Given the description of an element on the screen output the (x, y) to click on. 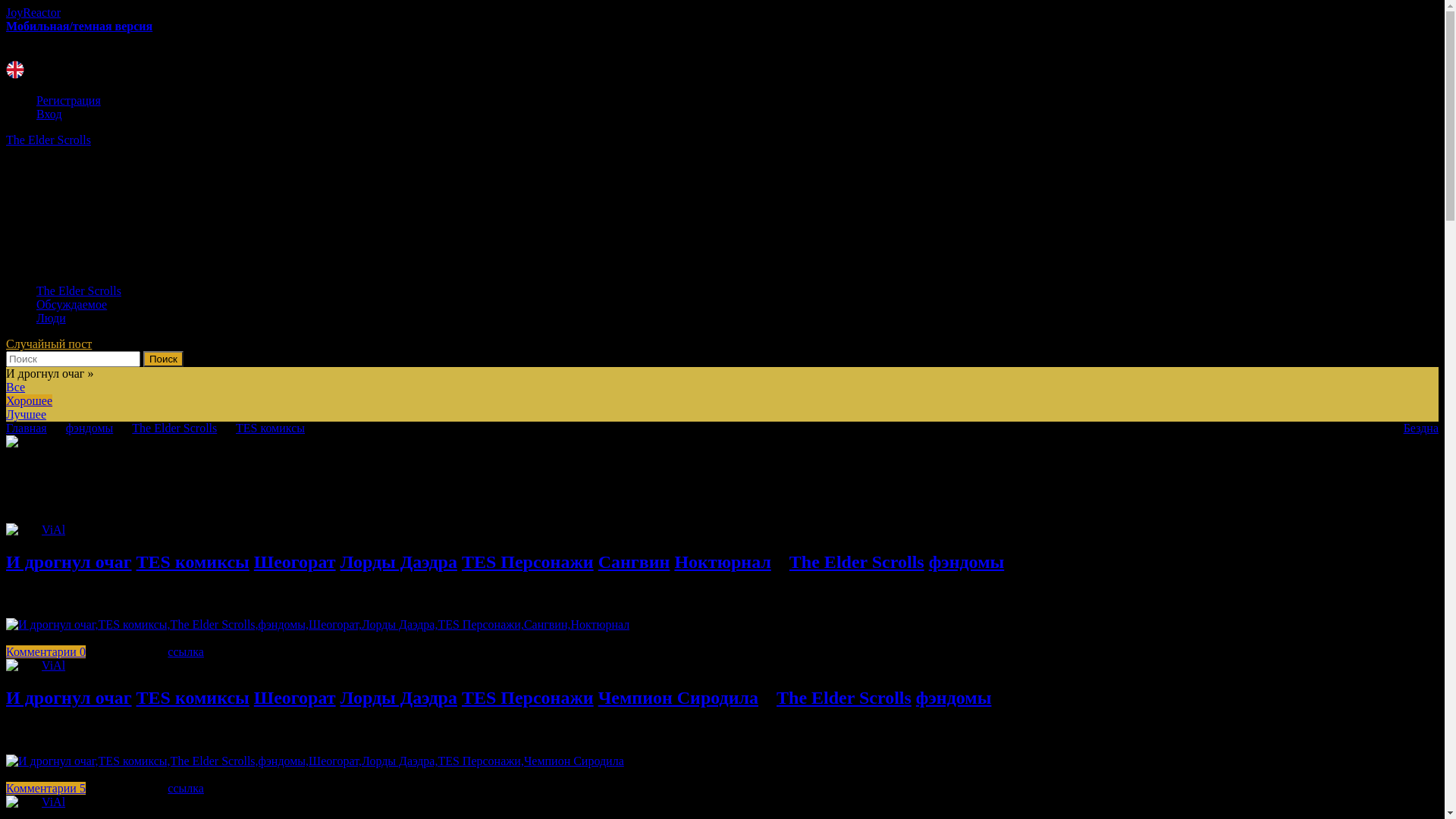
The Elder Scrolls Element type: text (856, 561)
ViAl Element type: text (53, 664)
The Elder Scrolls Element type: text (173, 427)
ViAl Element type: text (53, 801)
The Elder Scrolls Element type: text (78, 290)
The Elder Scrolls Element type: text (843, 697)
ViAl Element type: text (53, 529)
JoyReactor Element type: text (33, 12)
English version Element type: hover (15, 69)
The Elder Scrolls Element type: text (722, 195)
